Given the description of an element on the screen output the (x, y) to click on. 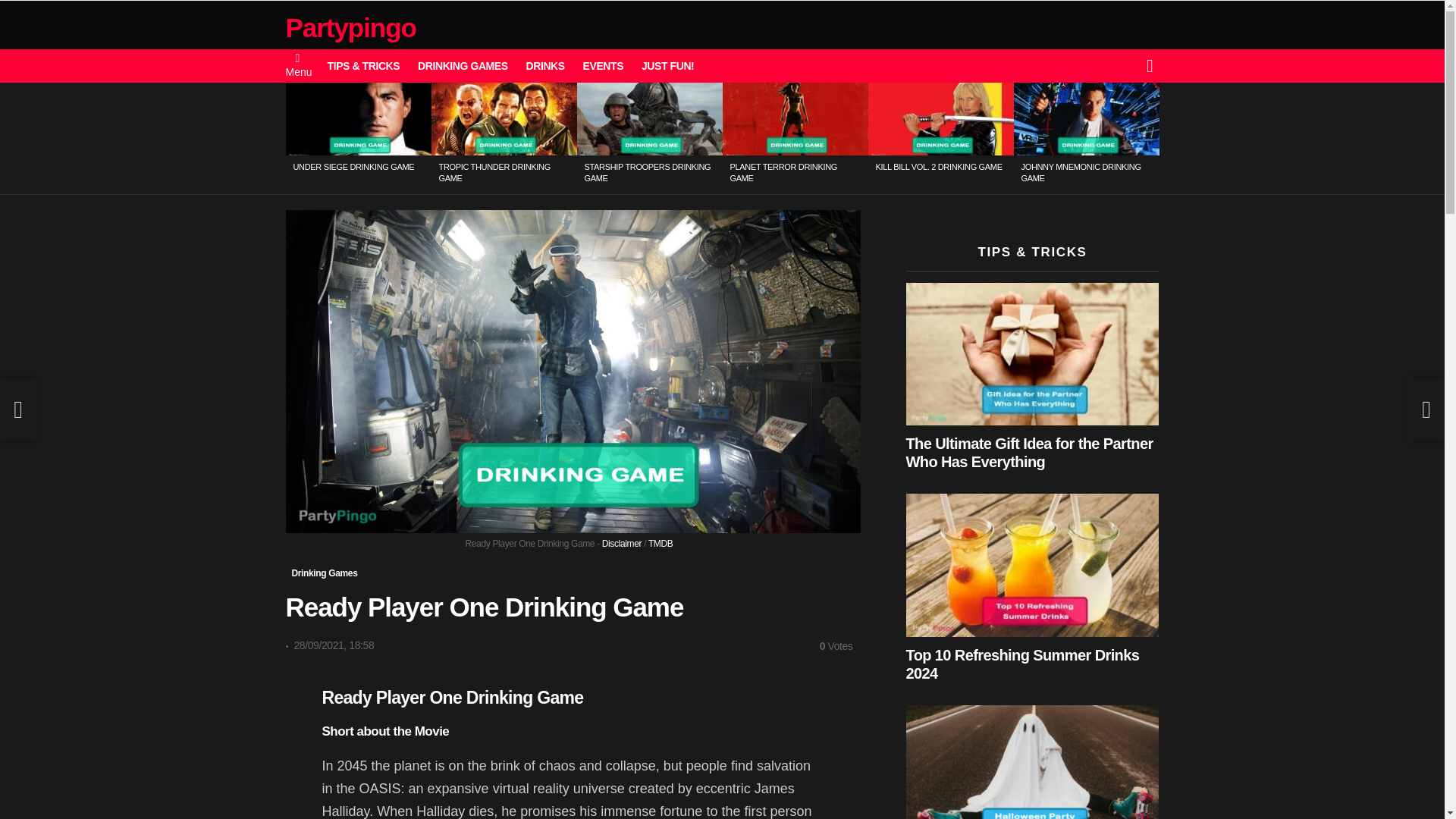
Top 10 Refreshing Summer Drinks 2024 (1031, 564)
Under Siege Drinking Game (357, 118)
UNDER SIEGE DRINKING GAME (352, 166)
STARSHIP TROOPERS DRINKING GAME (646, 172)
TROPIC THUNDER DRINKING GAME (494, 172)
Disclaimer (622, 543)
EVENTS (603, 65)
Drinking Games (323, 572)
Planet Terror Drinking Game (794, 118)
JOHNNY MNEMONIC DRINKING GAME (1080, 172)
Starship Troopers Drinking Game (649, 118)
PLANET TERROR DRINKING GAME (782, 172)
DRINKING GAMES (462, 65)
Kill Bill Vol. 2 Drinking Game (940, 118)
KILL BILL VOL. 2 DRINKING GAME (938, 166)
